Given the description of an element on the screen output the (x, y) to click on. 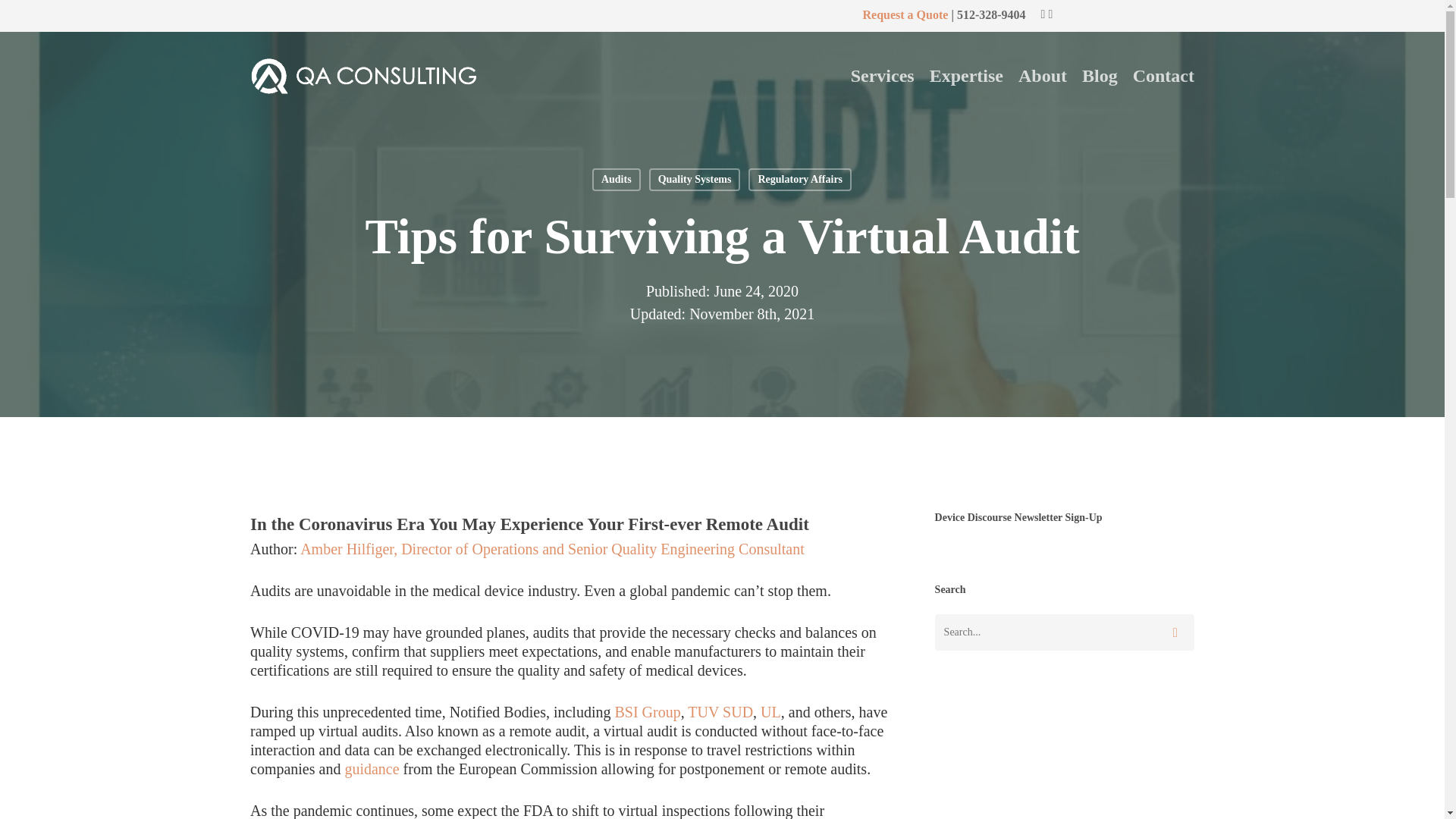
Request a Quote (904, 14)
512-328-9404 (991, 14)
Search for: (1063, 632)
Blog (1099, 75)
Regulatory Affairs (799, 179)
About (1042, 75)
Audits (616, 179)
Expertise (966, 75)
TUV SUD (719, 711)
Services (882, 75)
Quality Systems (695, 179)
Contact (1162, 75)
BSI Group (646, 711)
